Given the description of an element on the screen output the (x, y) to click on. 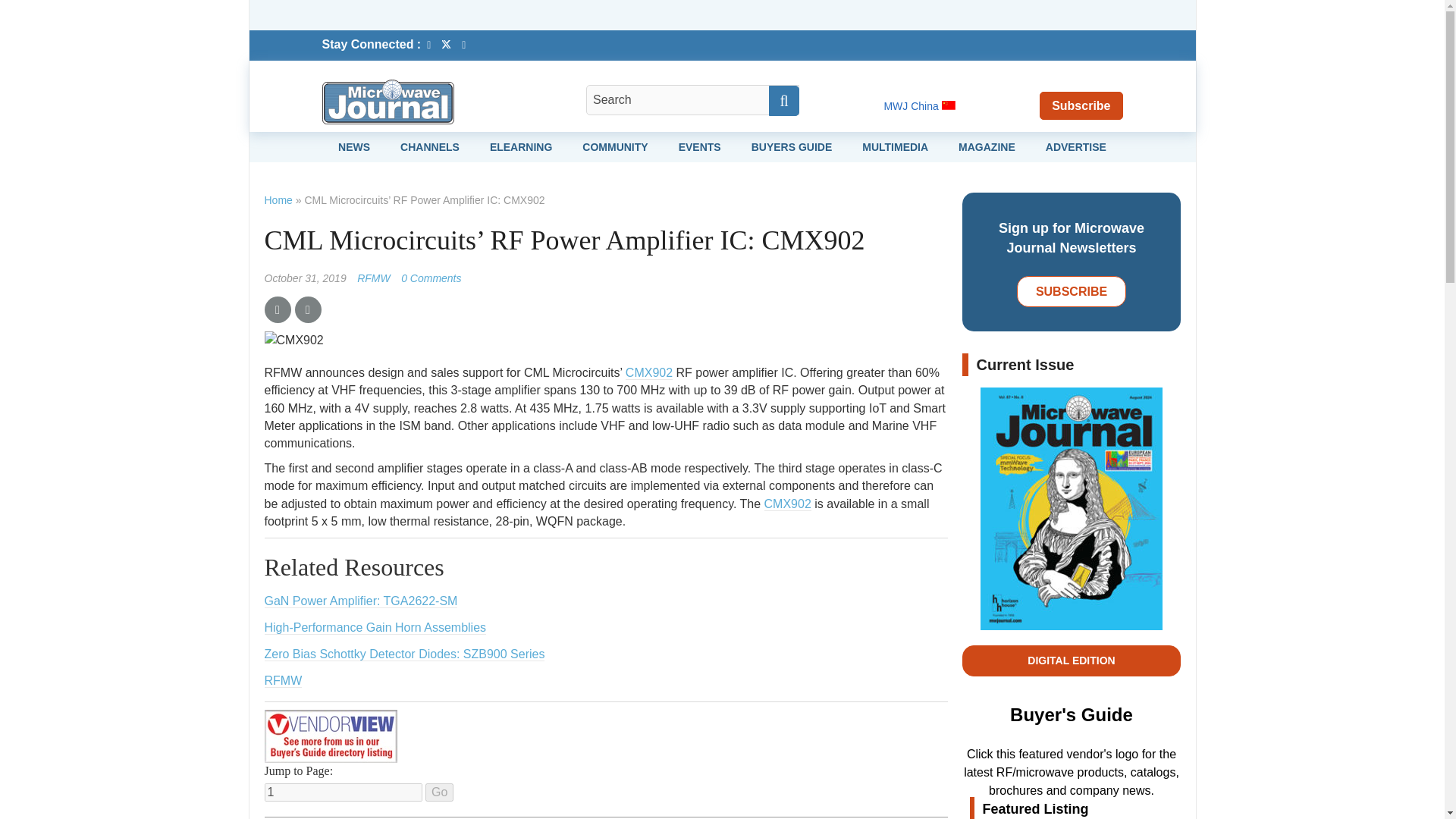
COMMUNITY (615, 146)
1 (342, 791)
MWJ China (919, 105)
CHANNELS (430, 146)
NEWS (353, 146)
Subscribe (1080, 105)
Go (438, 791)
ELEARNING (520, 146)
